Given the description of an element on the screen output the (x, y) to click on. 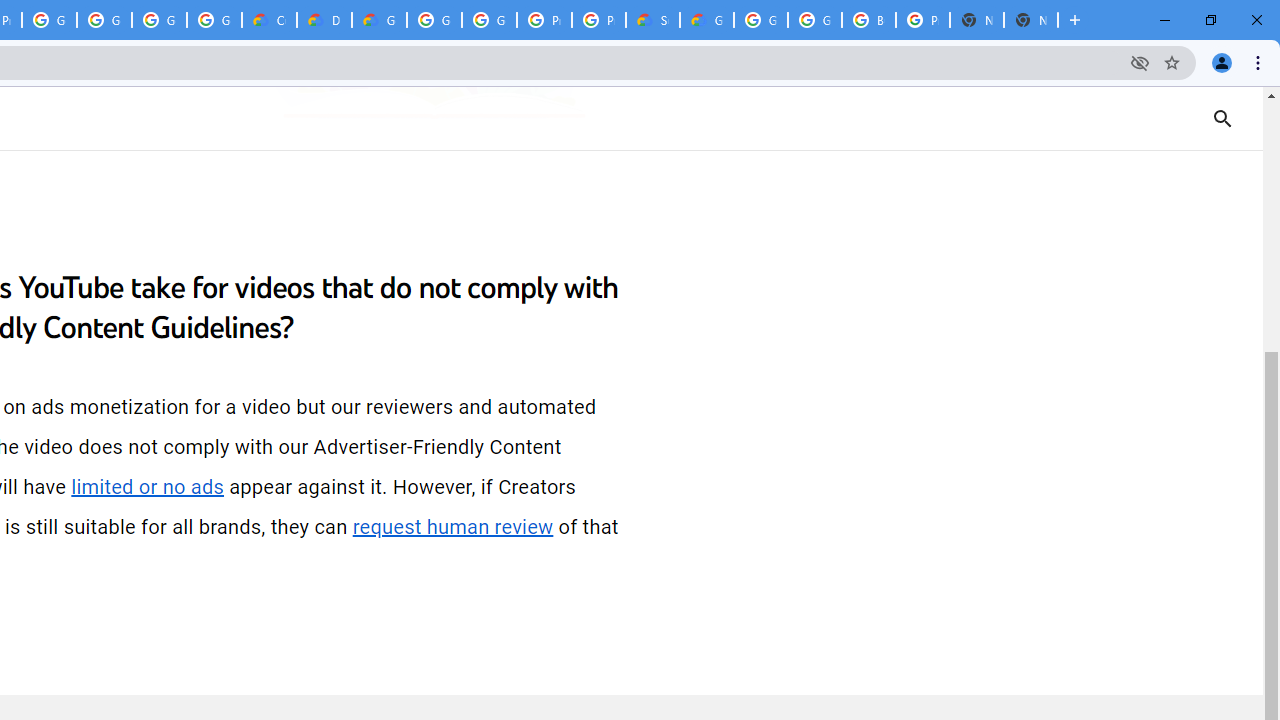
Customer Care | Google Cloud (268, 20)
Google Cloud Platform (815, 20)
Gemini for Business and Developers | Google Cloud (379, 20)
Google Workspace - Specific Terms (158, 20)
New Tab (1030, 20)
request human review (453, 527)
Google Cloud Platform (489, 20)
limited or no ads (147, 487)
Google Cloud Service Health (706, 20)
